Given the description of an element on the screen output the (x, y) to click on. 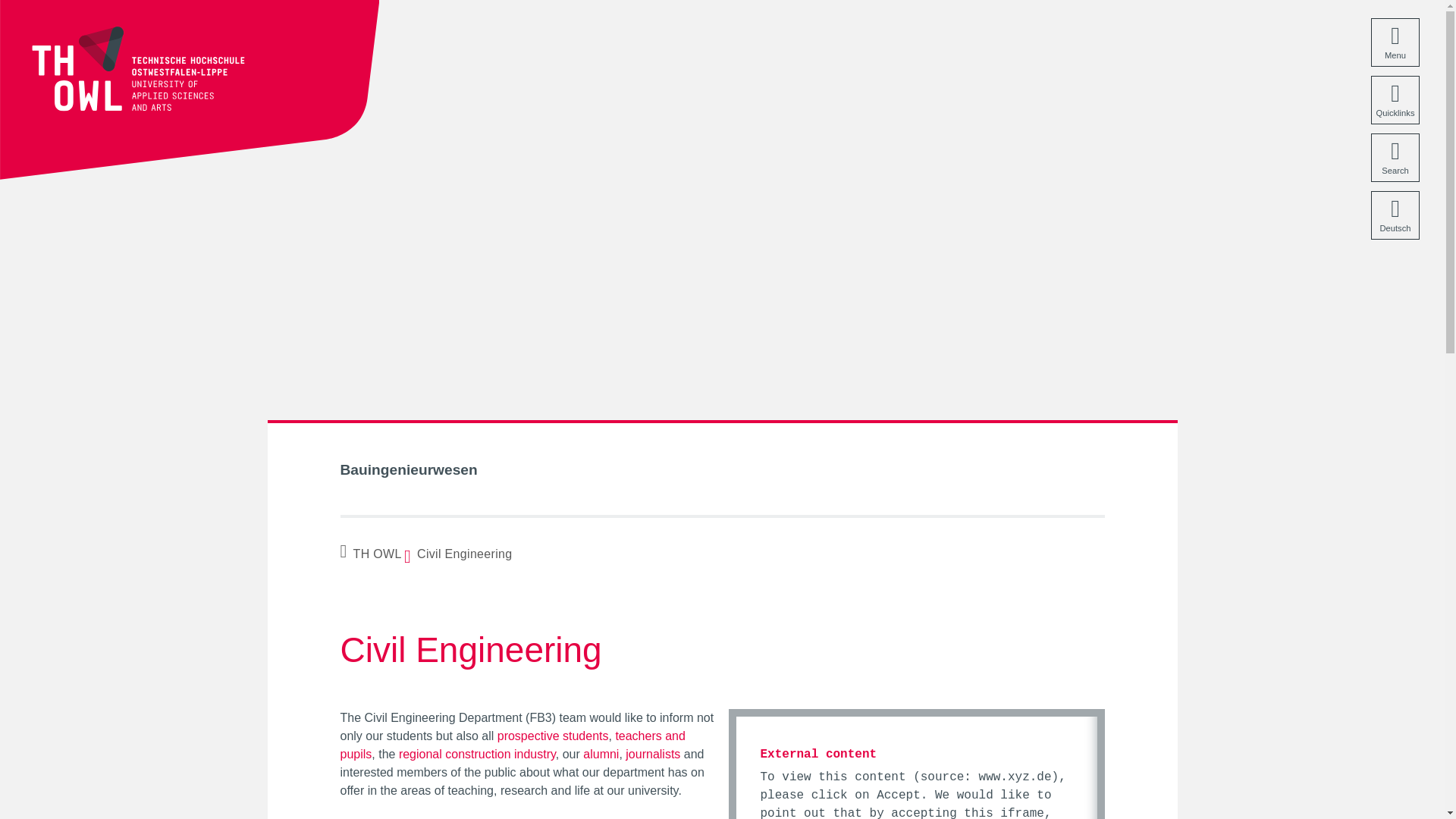
Search (1395, 157)
regional construction industry (477, 753)
Quicklinks (1395, 100)
prospective students (552, 735)
teachers and pupils (511, 744)
Open Navigation (1395, 42)
TH OWL (371, 554)
Switch language to: Deutsch (1395, 214)
Deutsch (1395, 214)
Civil Engineering (461, 554)
